Given the description of an element on the screen output the (x, y) to click on. 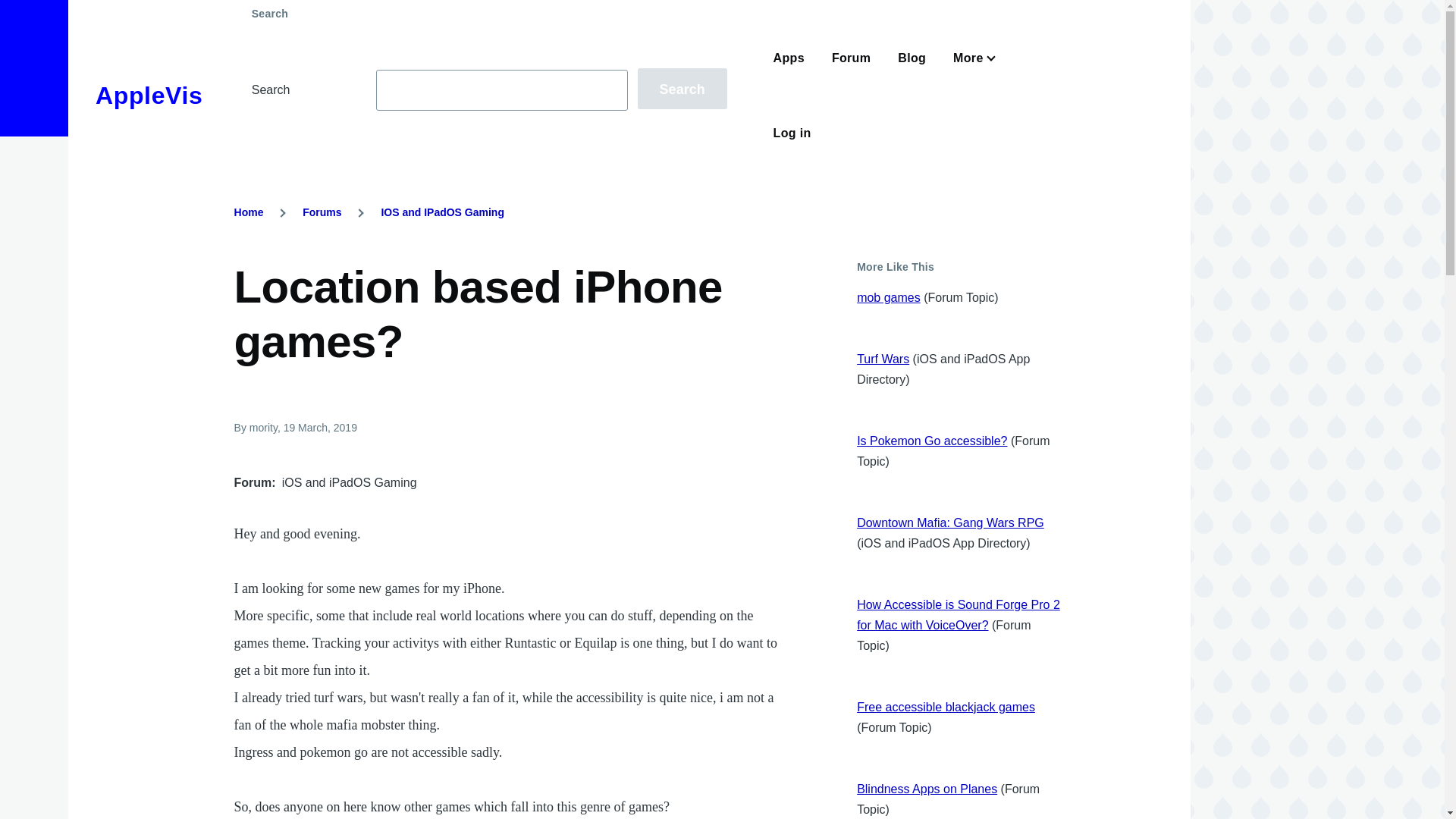
Skip to main content (595, 6)
Search (681, 87)
Home (149, 94)
Home (248, 212)
Search (681, 87)
Free accessible blackjack games (946, 707)
mob games (888, 297)
Blindness Apps on Planes (927, 788)
Downtown Mafia: Gang Wars RPG (950, 522)
Forums (321, 212)
Turf Wars (882, 358)
How Accessible is Sound Forge Pro 2 for Mac with VoiceOver? (958, 614)
Is Pokemon Go accessible? (932, 440)
IOS and IPadOS Gaming (441, 212)
AppleVis (149, 94)
